Given the description of an element on the screen output the (x, y) to click on. 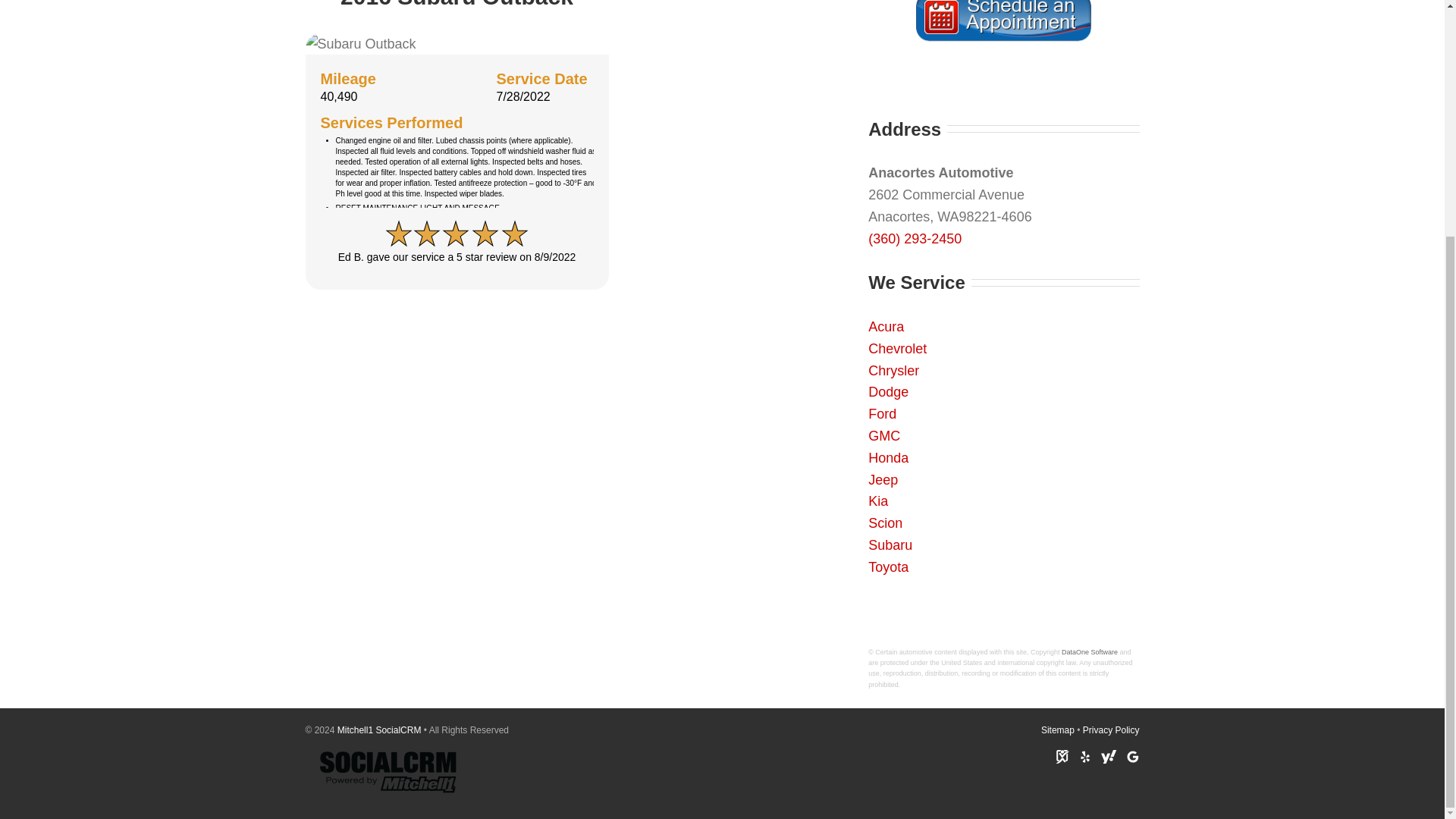
Yahoo (1108, 756)
Yelp (1085, 756)
Mitchell1 SocialCRM (379, 729)
SureCritic (1062, 756)
